Given the description of an element on the screen output the (x, y) to click on. 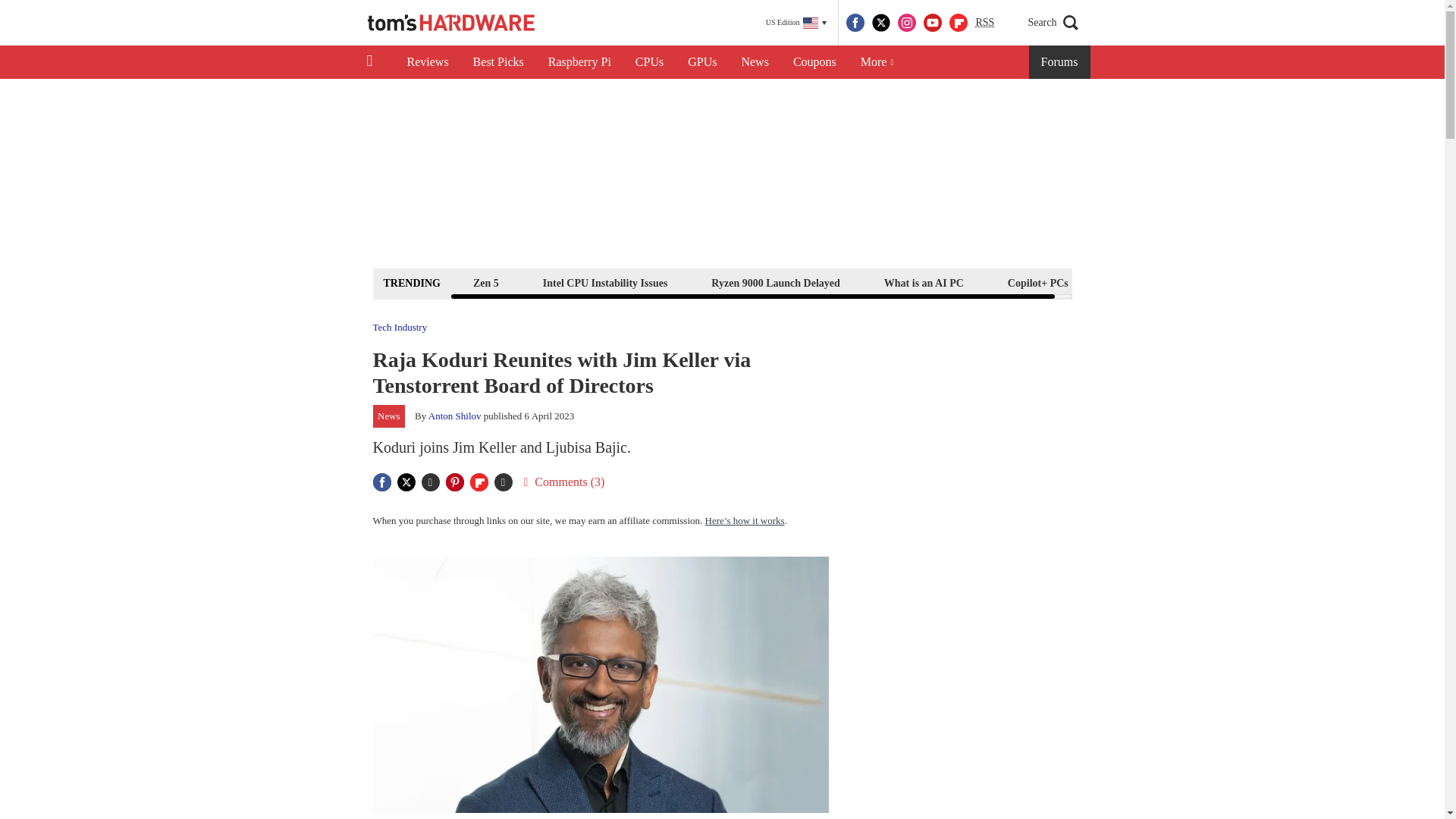
Forums (1059, 61)
News (754, 61)
Raspberry Pi (579, 61)
RSS (984, 22)
Best Picks (498, 61)
Reviews (427, 61)
US Edition (796, 22)
Really Simple Syndication (984, 21)
Zen 5 (485, 282)
CPUs (649, 61)
GPUs (702, 61)
Coupons (814, 61)
